Given the description of an element on the screen output the (x, y) to click on. 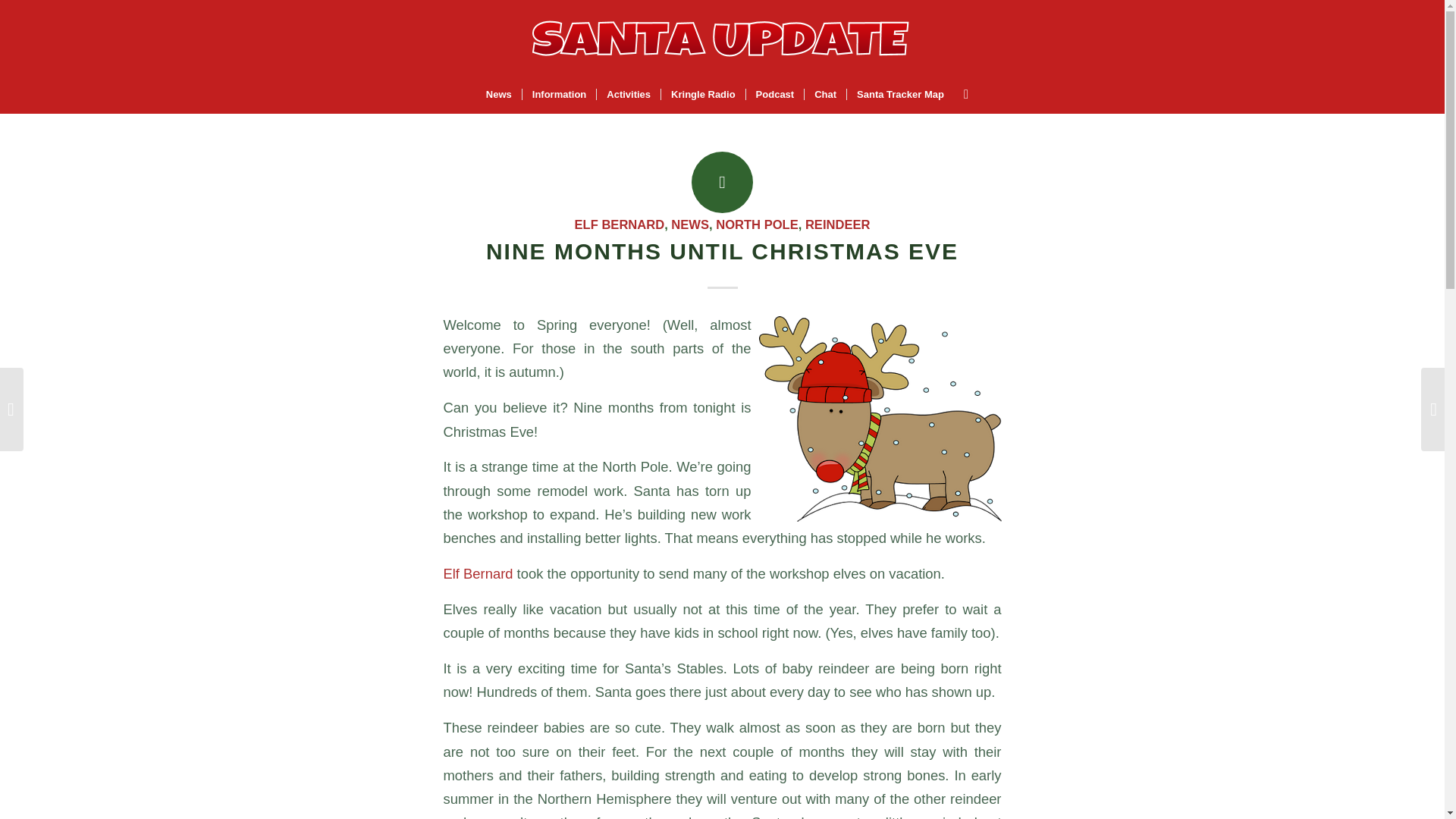
NEWS (690, 224)
Santa Tracker Map (899, 94)
Chat (824, 94)
newlogo23f (722, 38)
Kringle Radio (703, 94)
ELF BERNARD (620, 224)
Podcast (775, 94)
NORTH POLE (756, 224)
News (498, 94)
Activities (628, 94)
Information (558, 94)
